Given the description of an element on the screen output the (x, y) to click on. 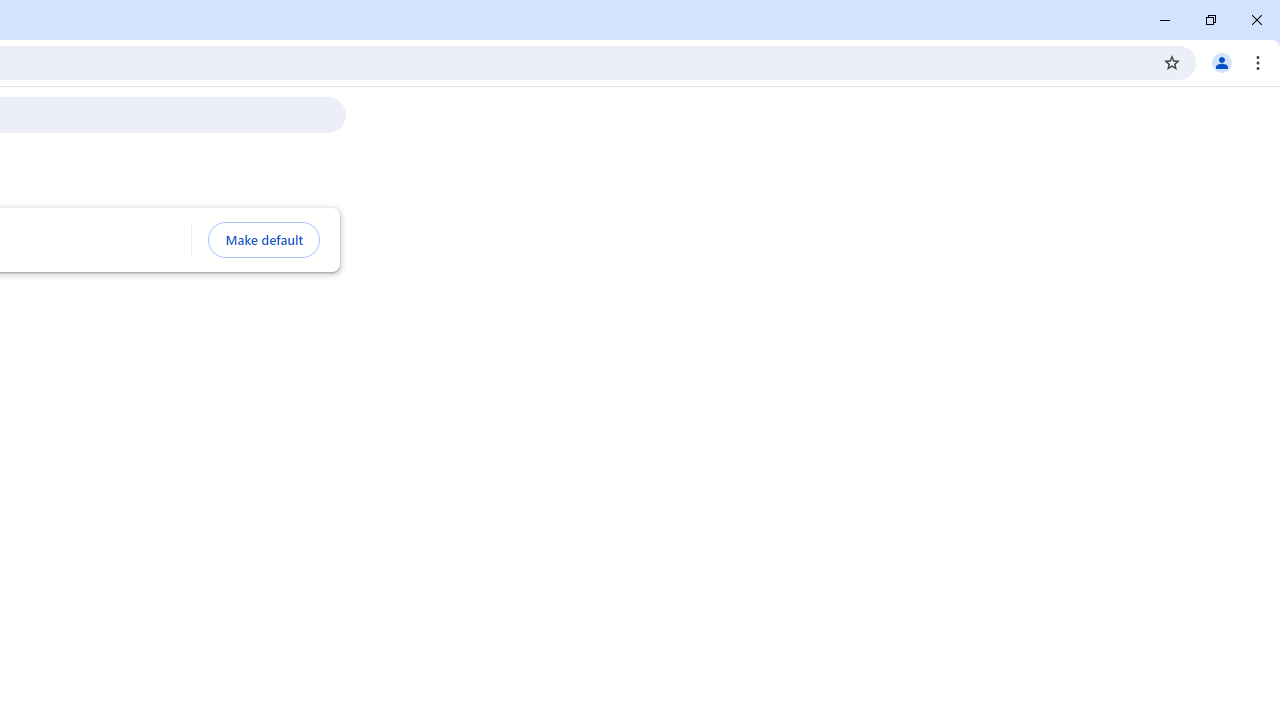
Make default (263, 240)
